Given the description of an element on the screen output the (x, y) to click on. 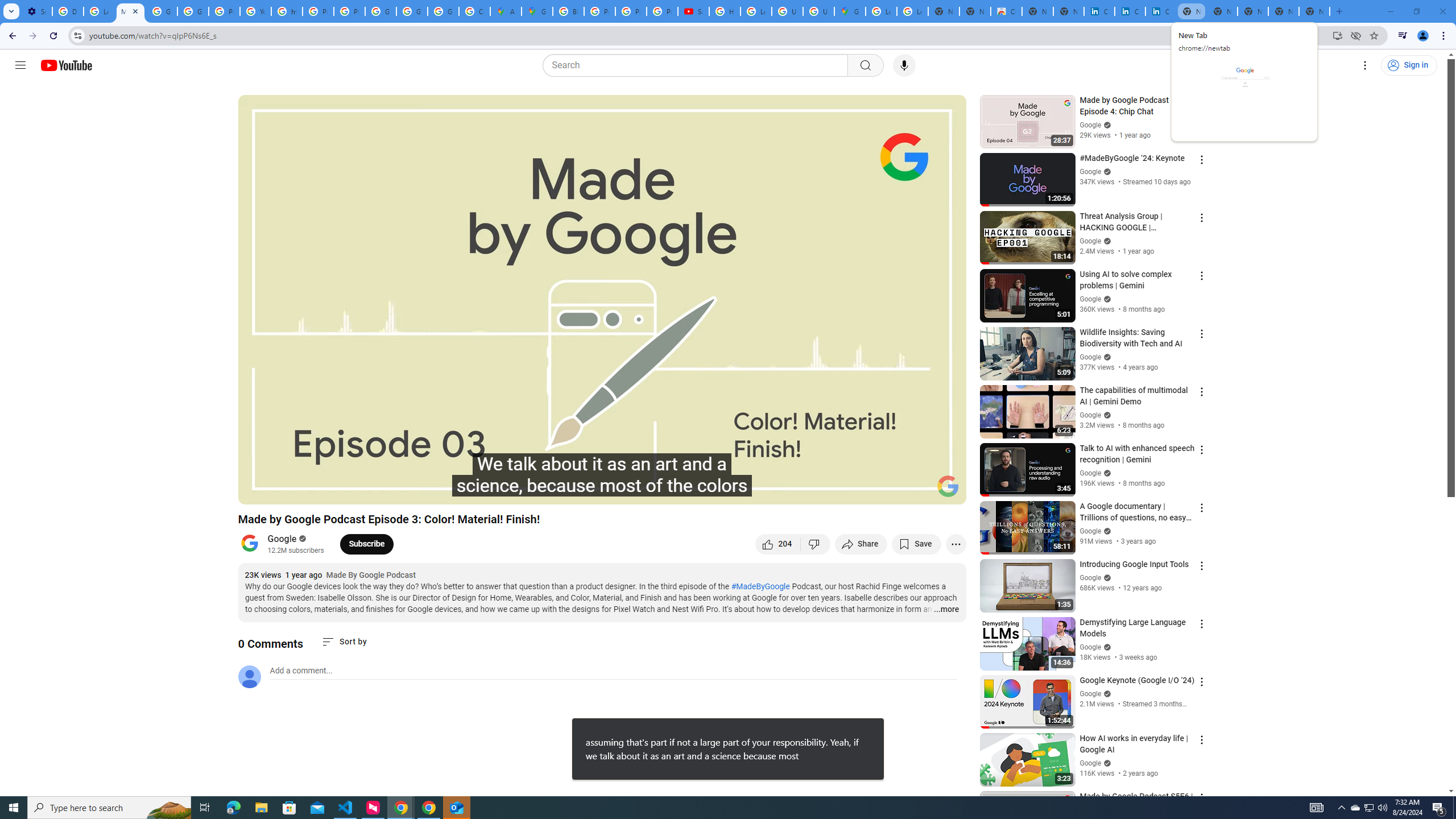
New Tab (1314, 11)
Microsoft Edge (233, 807)
Search with your voice (903, 65)
Create your Google Account (474, 11)
Sort comments (343, 641)
Full screen (f) (945, 490)
Task View (204, 807)
Seek slider (601, 476)
Delete photos & videos - Computer - Google Photos Help (67, 11)
Subtitles/closed captions unavailable (836, 490)
Settings (863, 490)
